Given the description of an element on the screen output the (x, y) to click on. 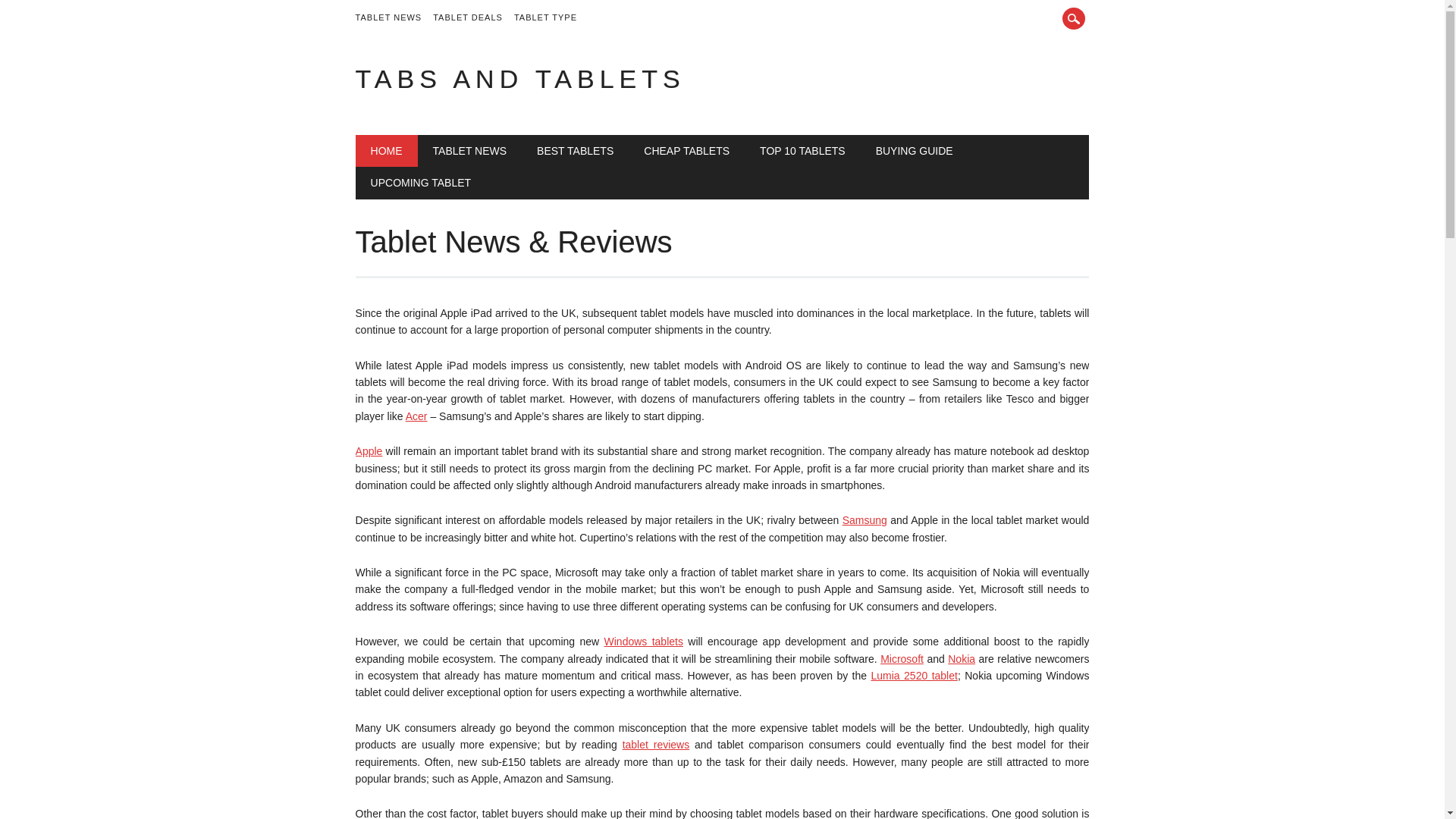
UPCOMING TABLET (420, 183)
CHEAP TABLETS (686, 151)
Acer (417, 416)
TABLET DEALS (472, 17)
TABS AND TABLETS (520, 78)
TOP 10 TABLETS (802, 151)
Tablet Deals (472, 17)
Samsung Tablets (864, 520)
TABLET NEWS (394, 17)
Upcoming Tablets in UK (420, 183)
